Given the description of an element on the screen output the (x, y) to click on. 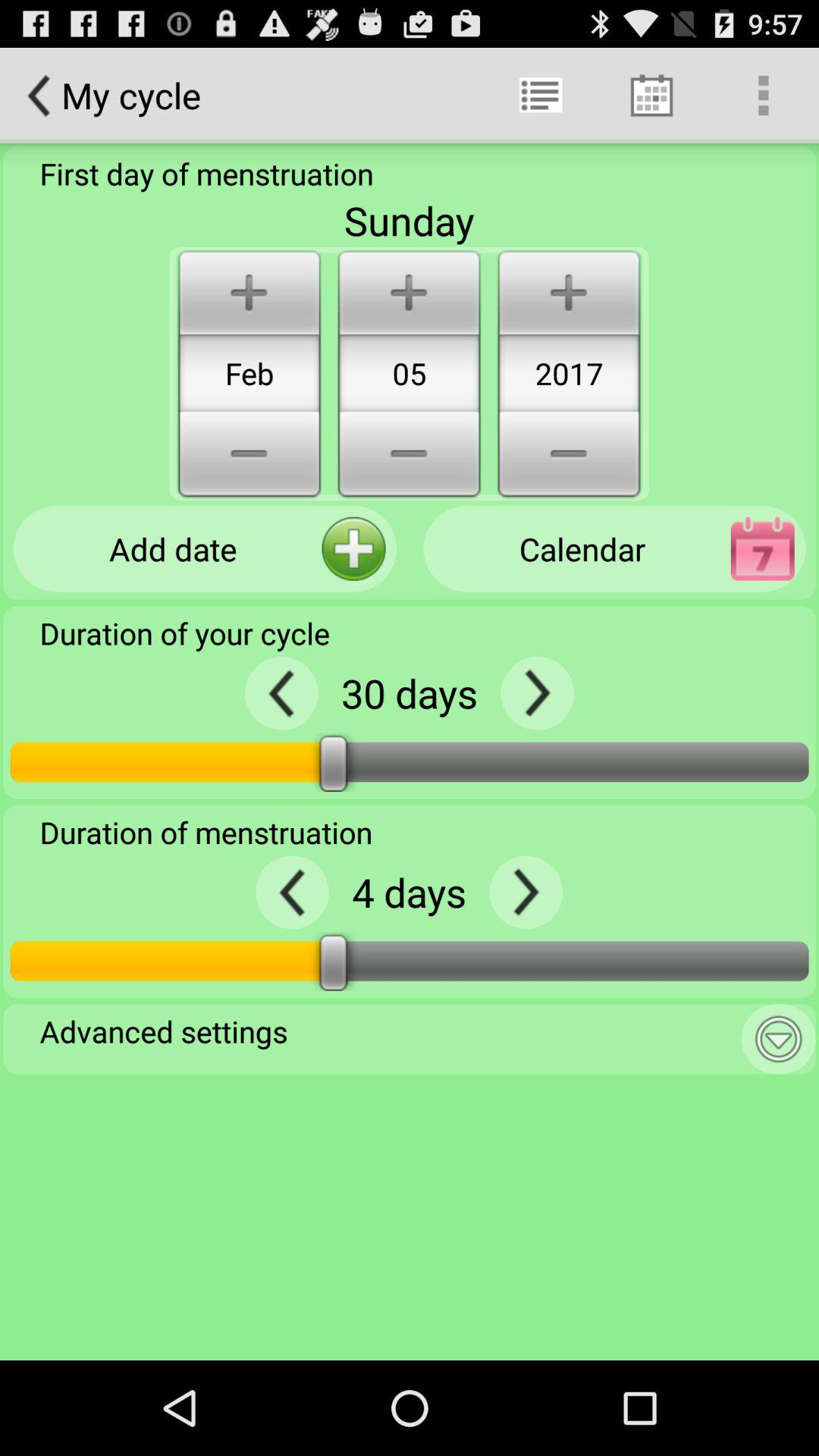
go to arrow (537, 693)
